Given the description of an element on the screen output the (x, y) to click on. 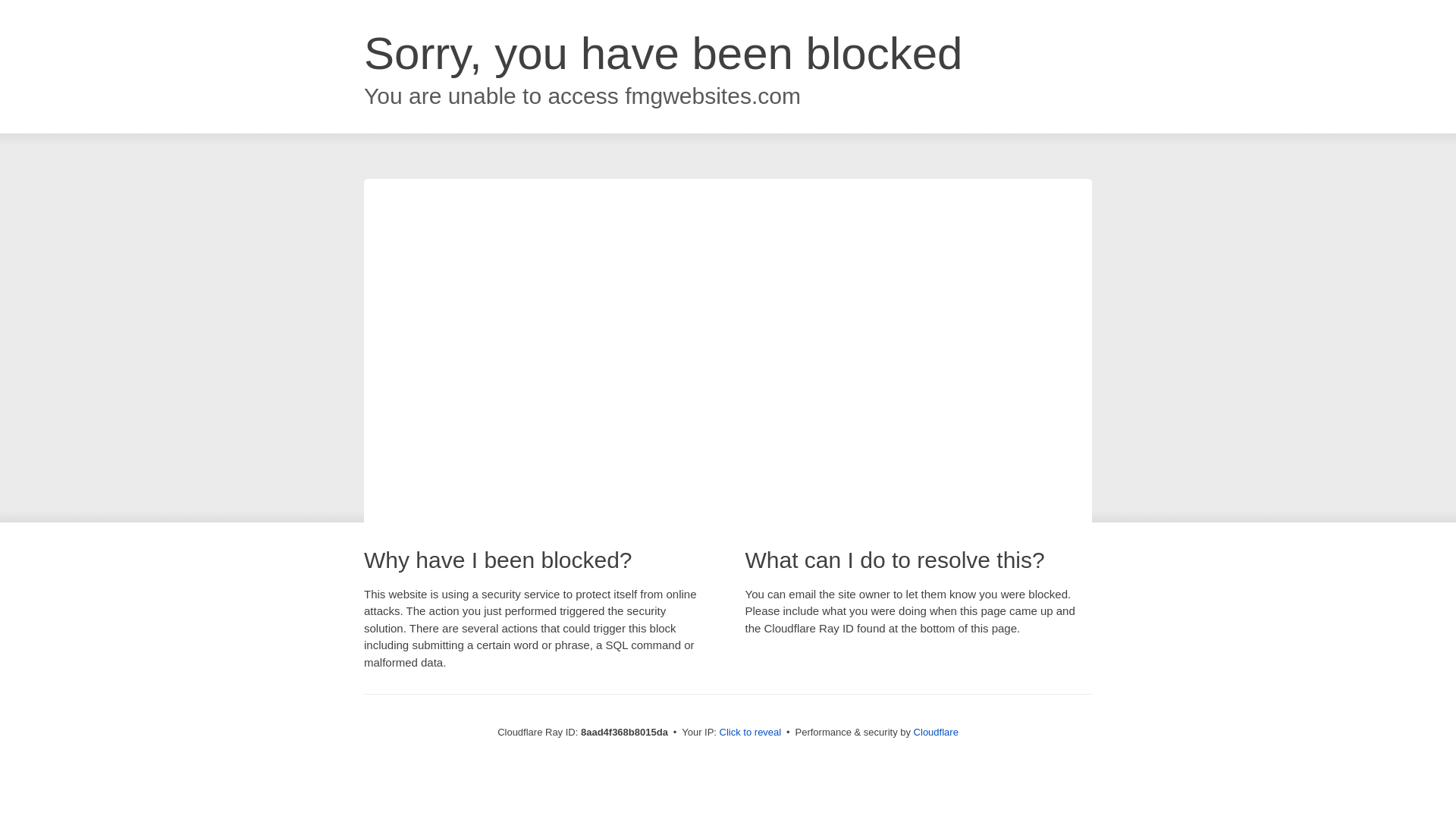
Click to reveal (750, 732)
Cloudflare (936, 731)
